Given the description of an element on the screen output the (x, y) to click on. 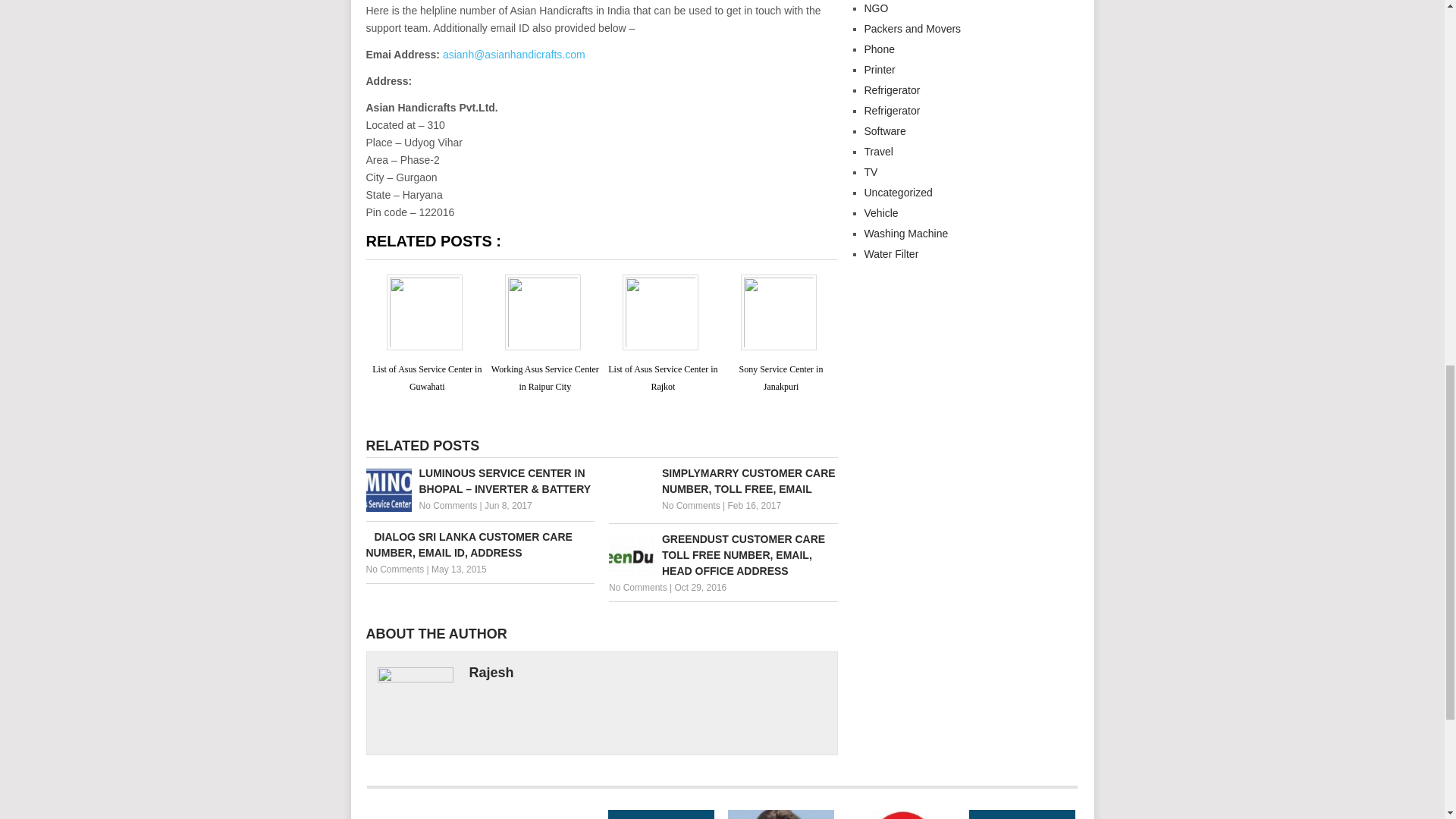
Lenovo Laptop Service Center in Rajkot (661, 814)
Working Asus Service Center in Raipur City (540, 814)
List of Asus Service Center in Guwahati (419, 814)
No Comments (637, 587)
DIALOG SRI LANKA CUSTOMER CARE NUMBER, EMAIL ID, ADDRESS (479, 545)
SimplyMarry Customer Care Number, Toll Free, Email (723, 481)
Sony Service Center in Janakpuri (780, 377)
No Comments (448, 505)
No Comments (691, 505)
List of Asus Service Center in Rajkot (662, 377)
List of Asus Service Center in Guwahati (426, 377)
SIMPLYMARRY CUSTOMER CARE NUMBER, TOLL FREE, EMAIL (723, 481)
Dialog Sri Lanka Customer Care Number, Email ID, Address (479, 545)
